Given the description of an element on the screen output the (x, y) to click on. 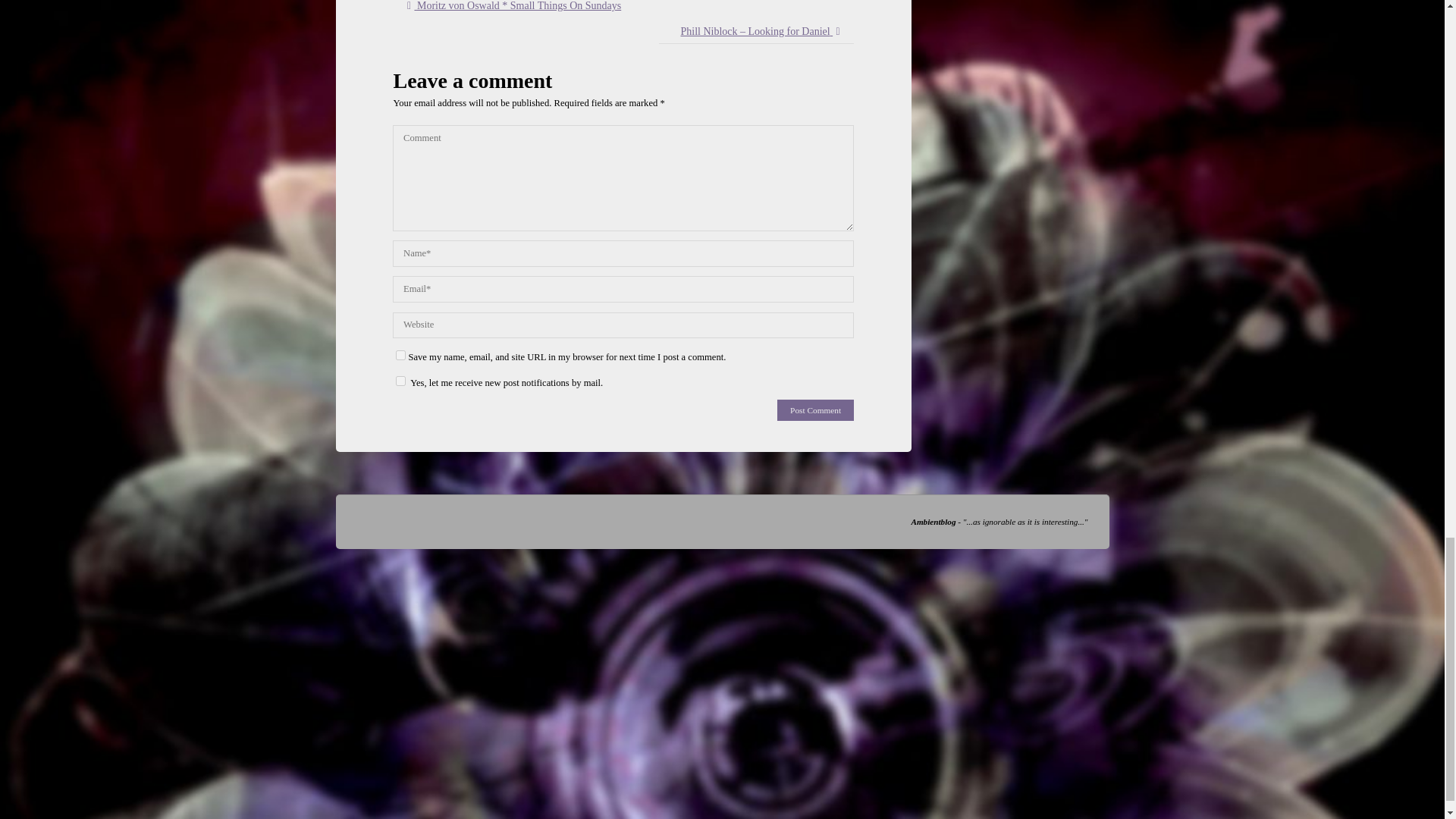
yes (401, 355)
Post Comment (815, 409)
1 (401, 380)
